Given the description of an element on the screen output the (x, y) to click on. 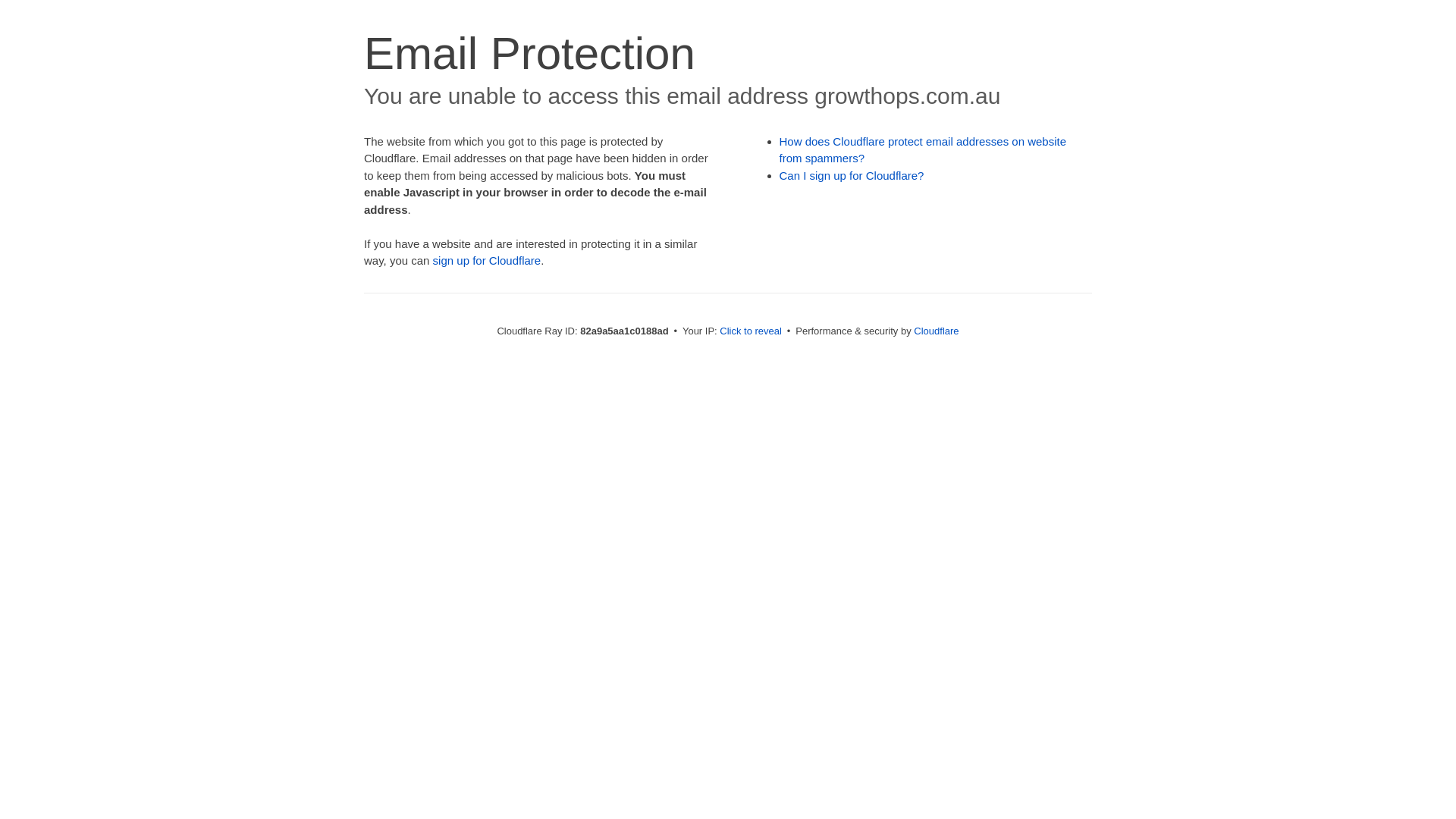
Click to reveal Element type: text (750, 330)
Can I sign up for Cloudflare? Element type: text (851, 175)
sign up for Cloudflare Element type: text (487, 260)
Cloudflare Element type: text (935, 330)
